Given the description of an element on the screen output the (x, y) to click on. 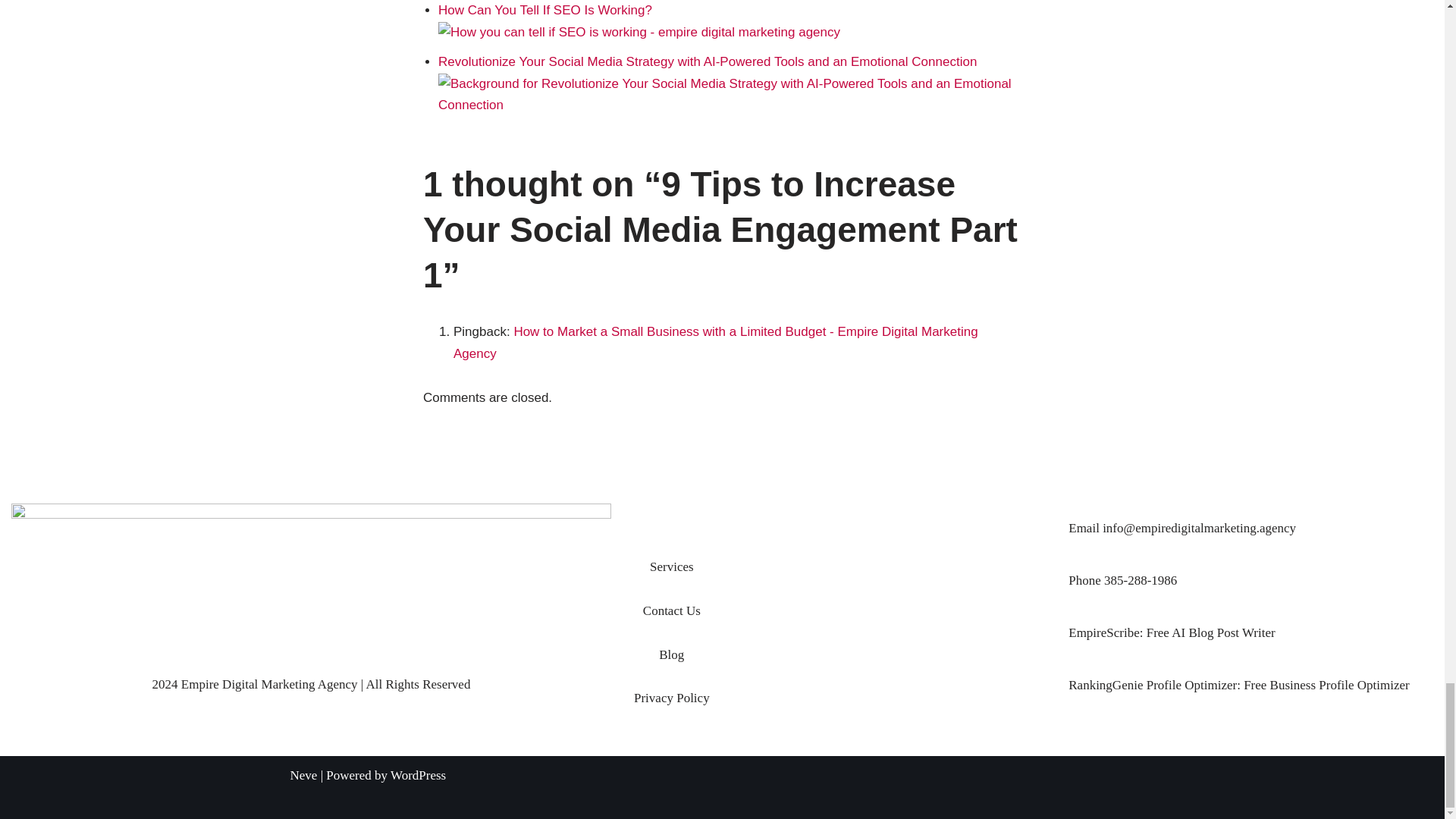
How Can You Tell If SEO Is Working? (639, 21)
EmpireScribe (1103, 632)
Blog (671, 654)
Contact Us (671, 610)
Services (671, 566)
385-288-1986 (1139, 580)
Privacy Policy (671, 698)
